Given the description of an element on the screen output the (x, y) to click on. 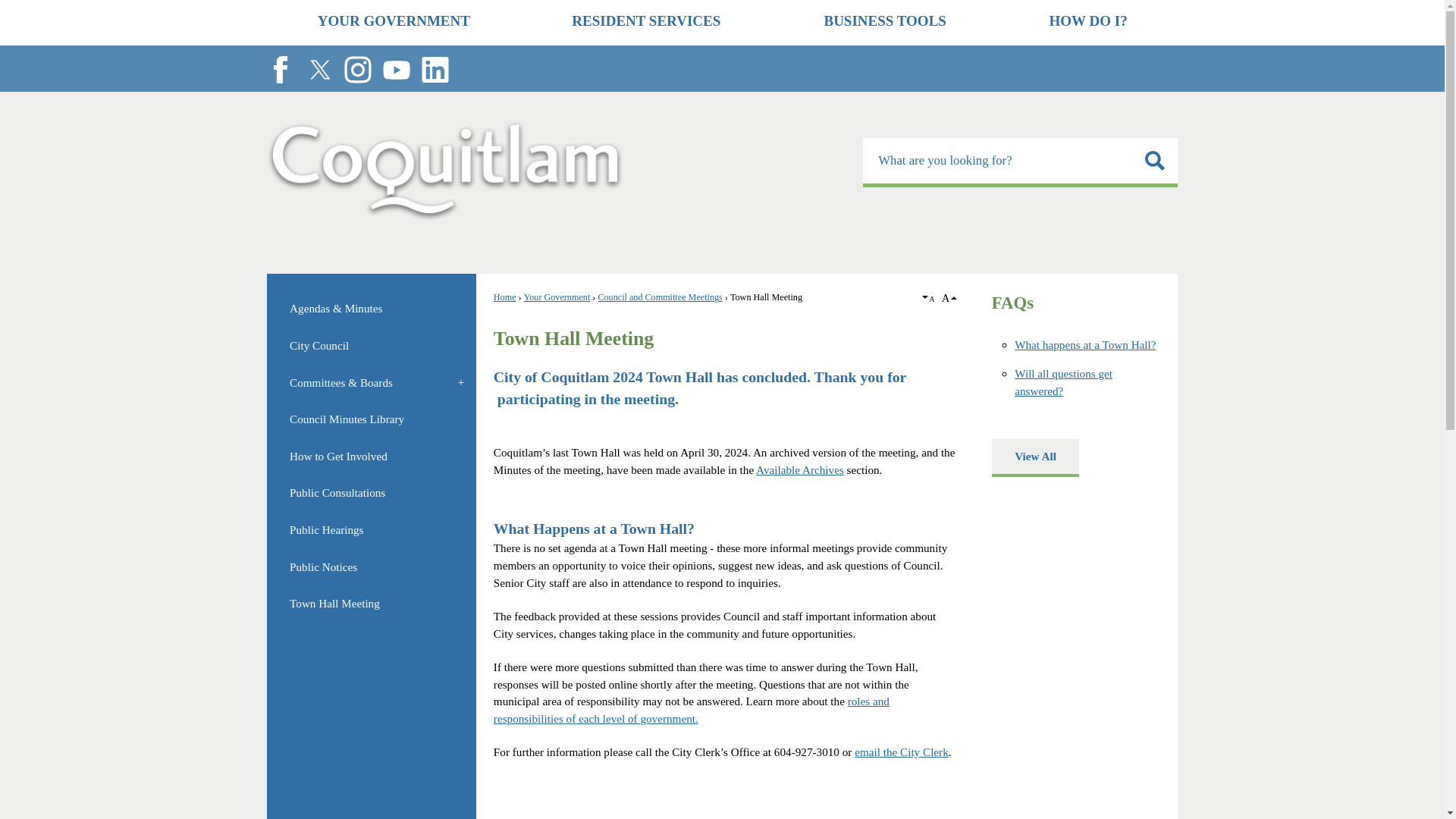
YouTube (396, 69)
FAQs (1012, 302)
LinkedIn (435, 69)
A (929, 298)
Council and Committee Meetings (659, 296)
Make text bigger (948, 297)
BUSINESS TOOLS (884, 22)
Your Government (557, 296)
View All (1034, 457)
Will all questions get answered? (1063, 381)
roles and responsibilities of each level of government. (691, 709)
Facebook (280, 69)
Home (504, 296)
YOUR GOVERNMENT (393, 22)
What are you looking for? (1020, 162)
